Given the description of an element on the screen output the (x, y) to click on. 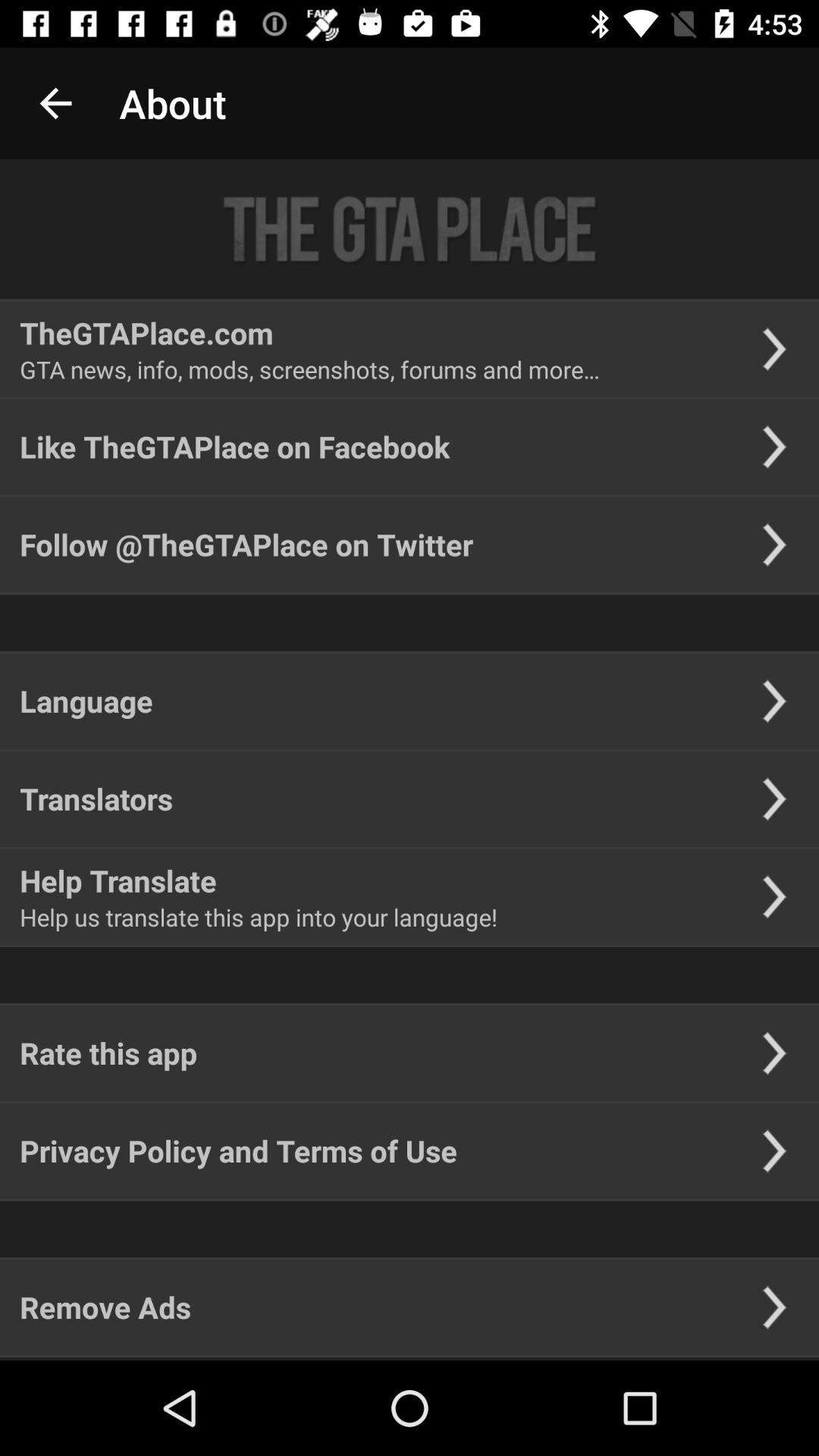
turn on icon above thegtaplace.com (409, 229)
